Given the description of an element on the screen output the (x, y) to click on. 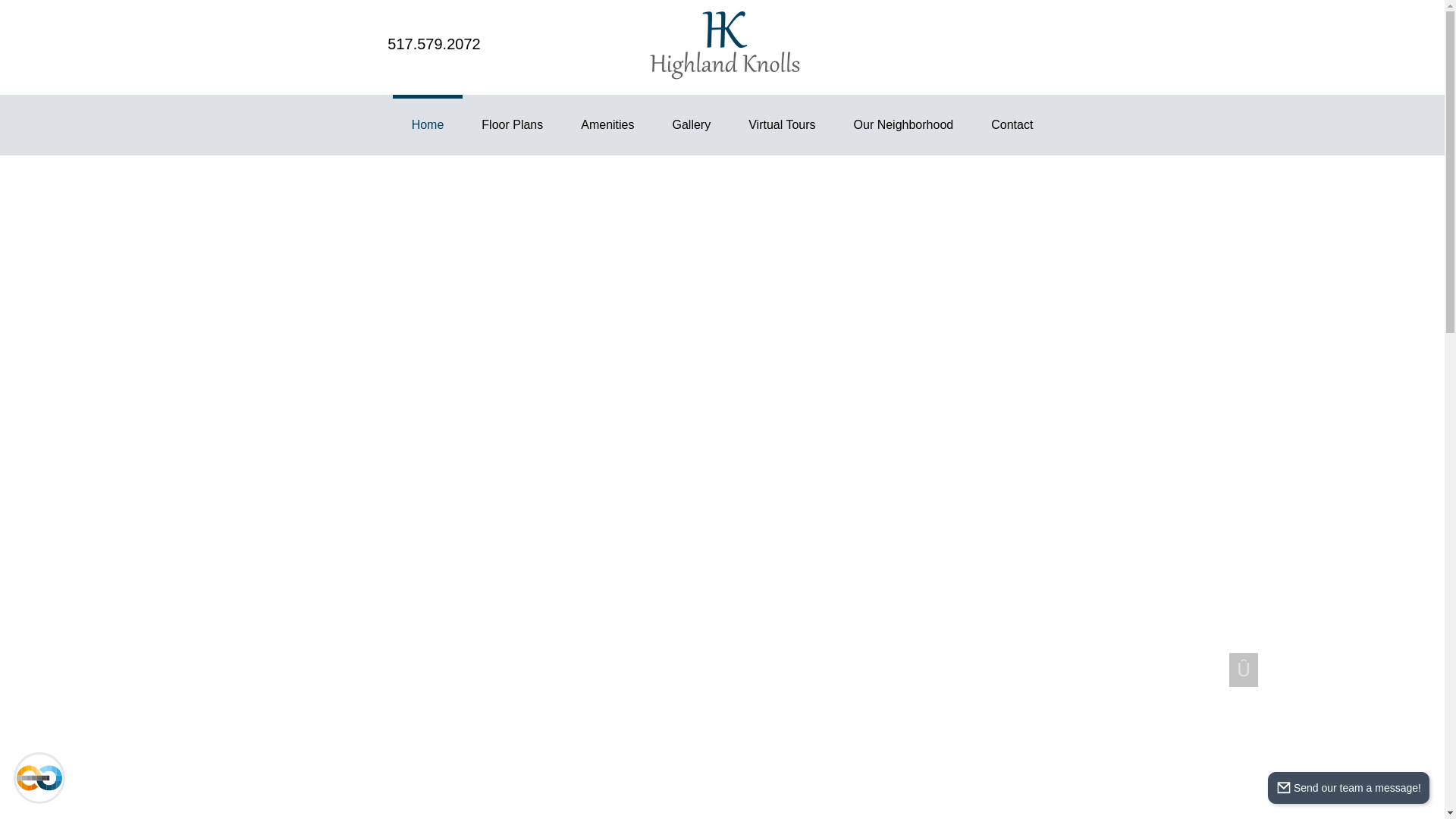
Amenities (607, 125)
Home (428, 125)
517.579.2072 (433, 44)
Floor Plans (512, 125)
Gallery (691, 125)
Our Neighborhood (903, 125)
Virtual Tours (781, 125)
Contact (1011, 125)
